Given the description of an element on the screen output the (x, y) to click on. 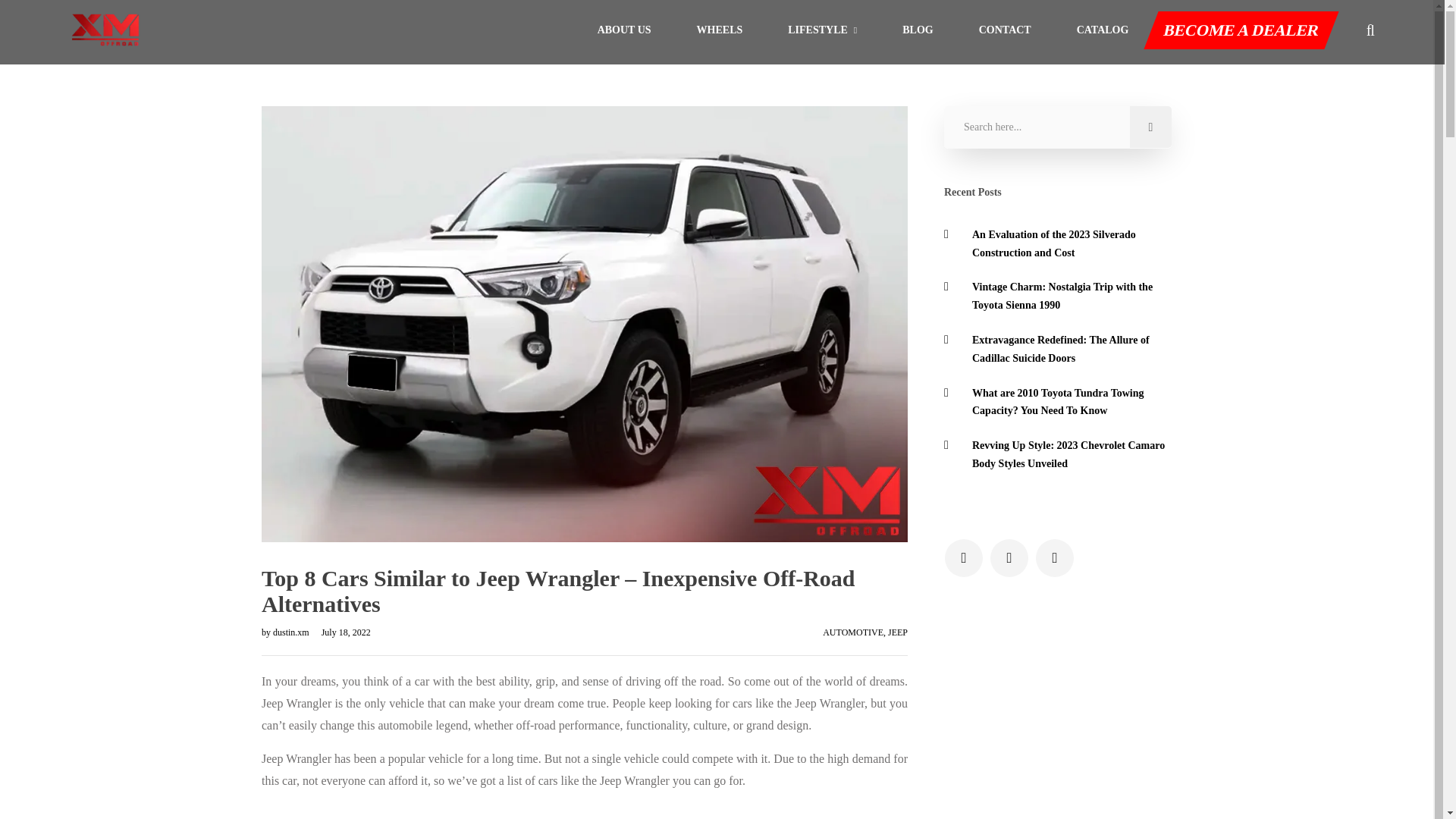
JEEP (897, 632)
dustin.xm (292, 632)
AUTOMOTIVE (852, 632)
ABOUT US (623, 30)
CONTACT (1004, 30)
July 18, 2022 (341, 632)
CATALOG (1103, 30)
WHEELS (719, 30)
LIFESTYLE (822, 30)
Search text (1057, 127)
BECOME A DEALER (1238, 30)
BLOG (917, 30)
